Given the description of an element on the screen output the (x, y) to click on. 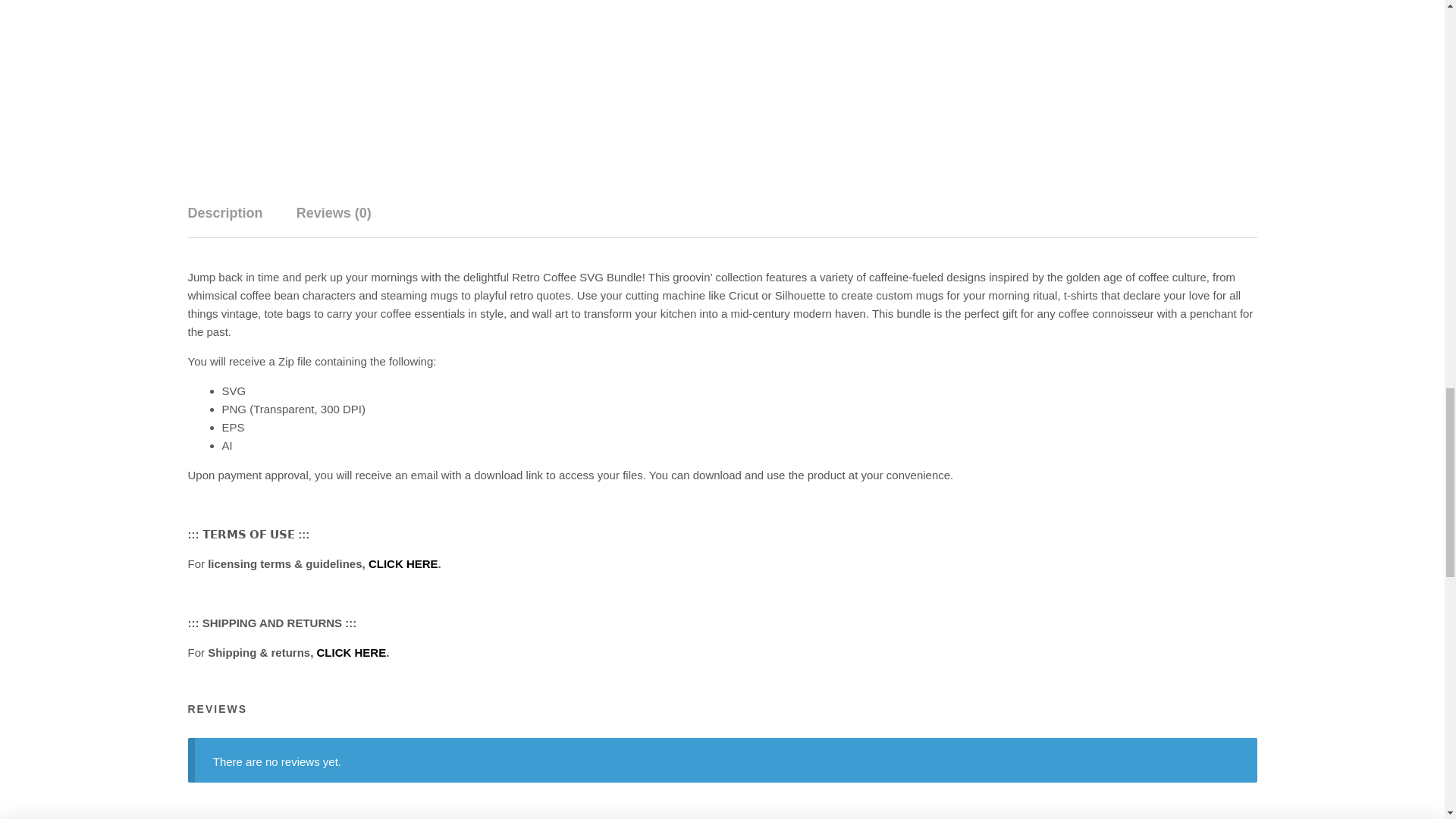
CLICK HERE (352, 652)
CLICK HERE (403, 563)
Description (225, 213)
